Given the description of an element on the screen output the (x, y) to click on. 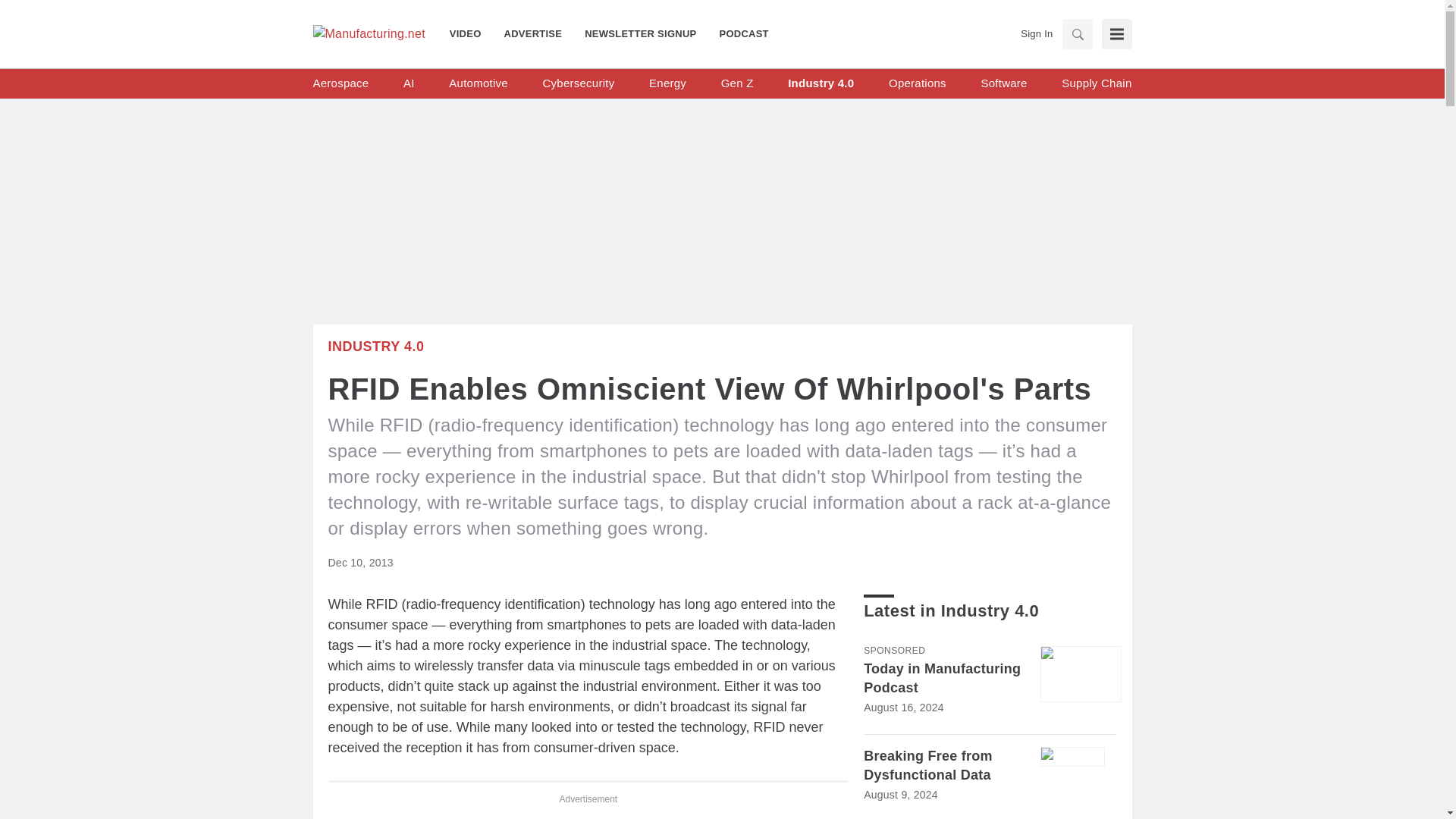
Aerospace (340, 83)
Supply Chain (1096, 83)
Automotive (478, 83)
PODCAST (737, 33)
Sign In (1036, 33)
NEWSLETTER SIGNUP (640, 33)
Cybersecurity (577, 83)
Energy (667, 83)
Software (1002, 83)
Industry 4.0 (375, 346)
